Given the description of an element on the screen output the (x, y) to click on. 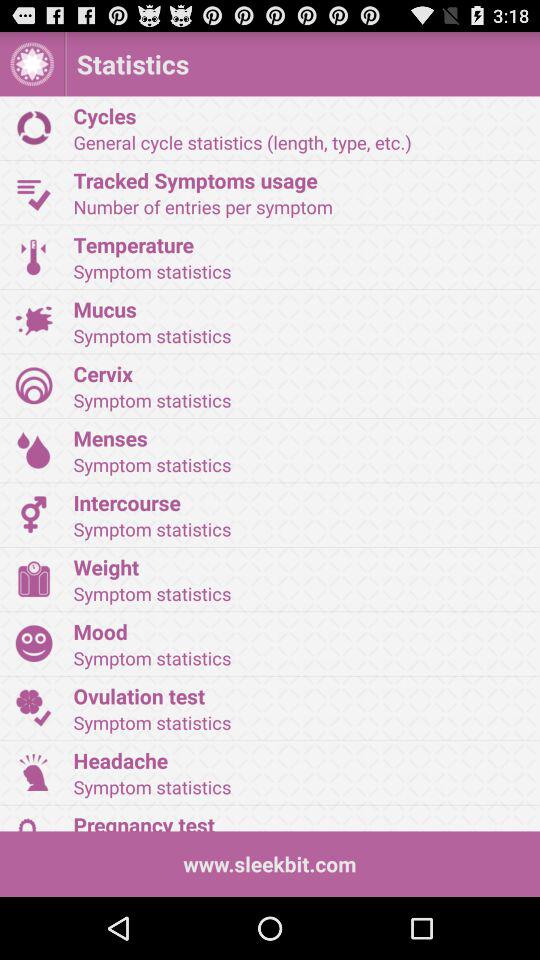
tap item above symptom statistics item (299, 373)
